Given the description of an element on the screen output the (x, y) to click on. 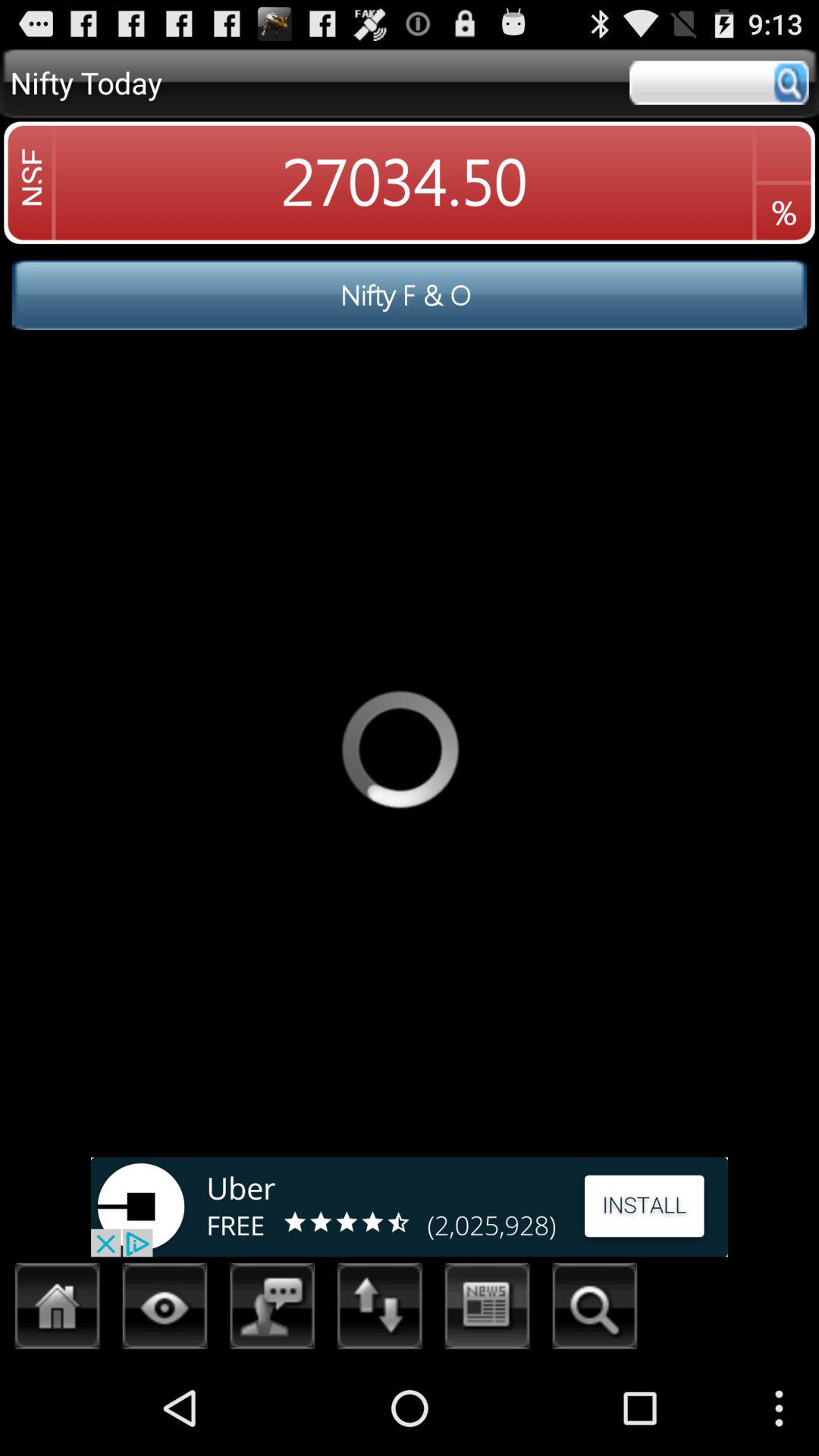
menu pega (379, 1310)
